Given the description of an element on the screen output the (x, y) to click on. 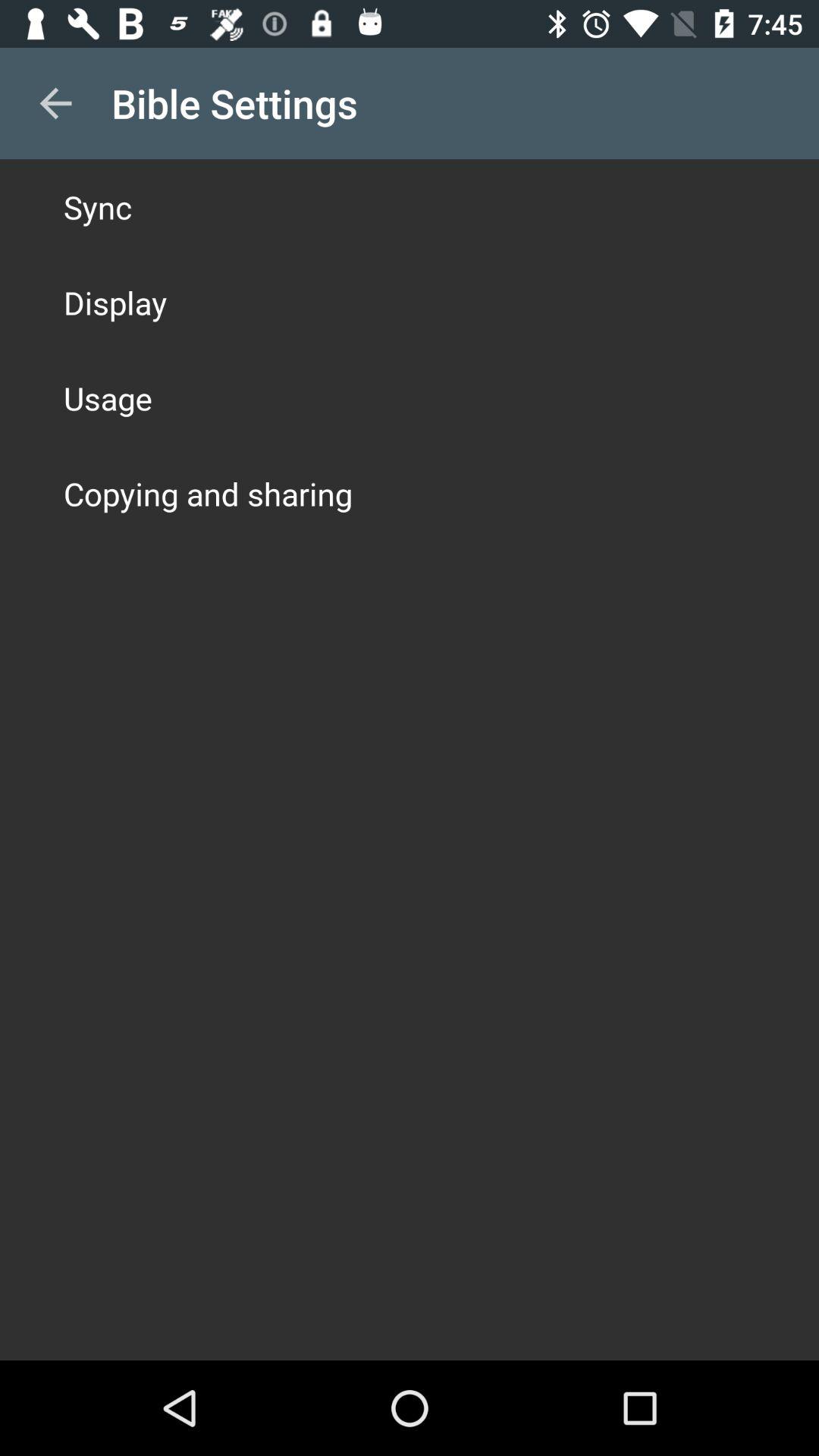
tap the icon next to the bible settings icon (55, 103)
